Given the description of an element on the screen output the (x, y) to click on. 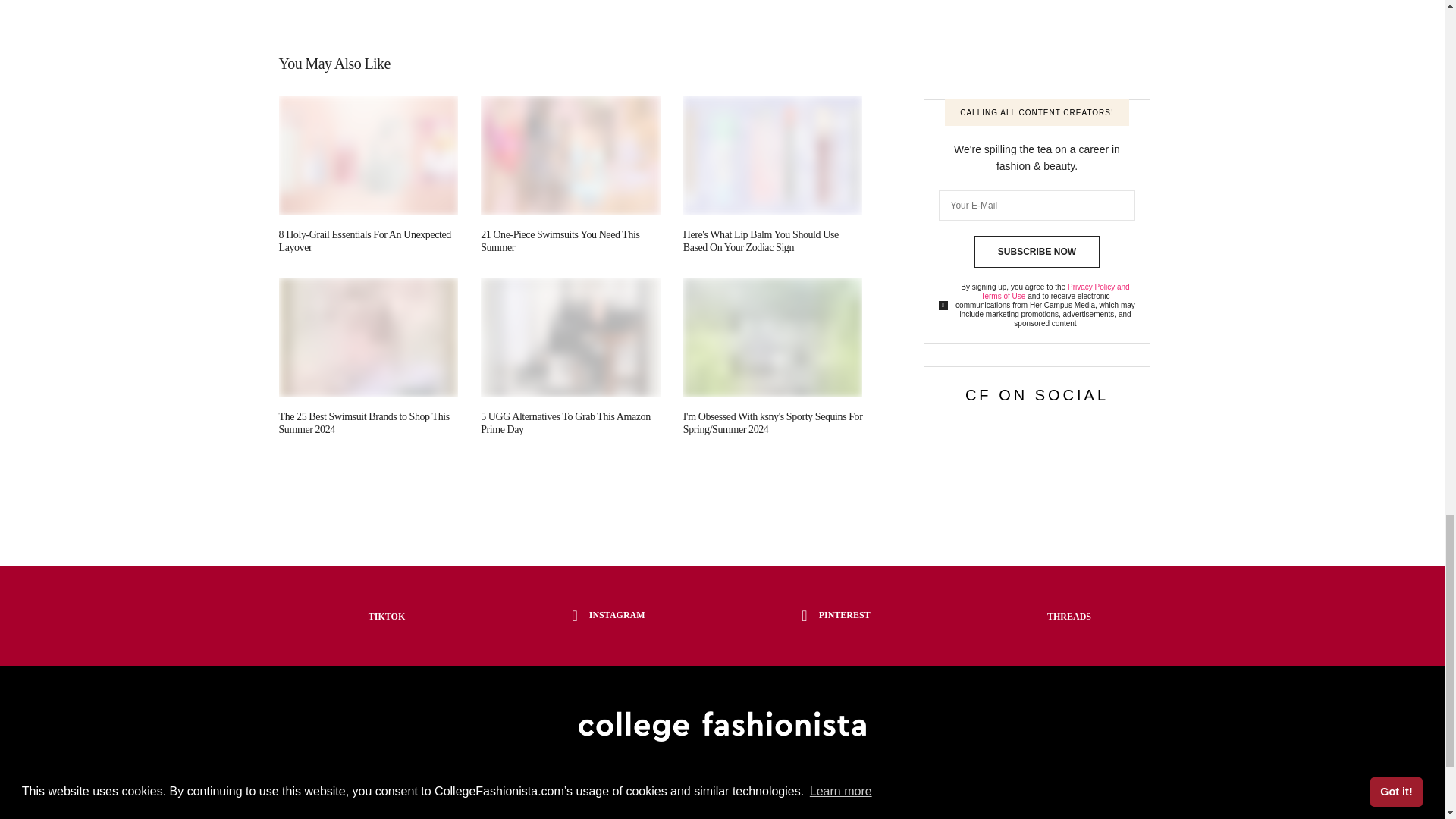
8 Holy-Grail Essentials For An Unexpected Layover 4 (368, 155)
8 Holy-Grail Essentials For An Unexpected Layover (365, 241)
